Given the description of an element on the screen output the (x, y) to click on. 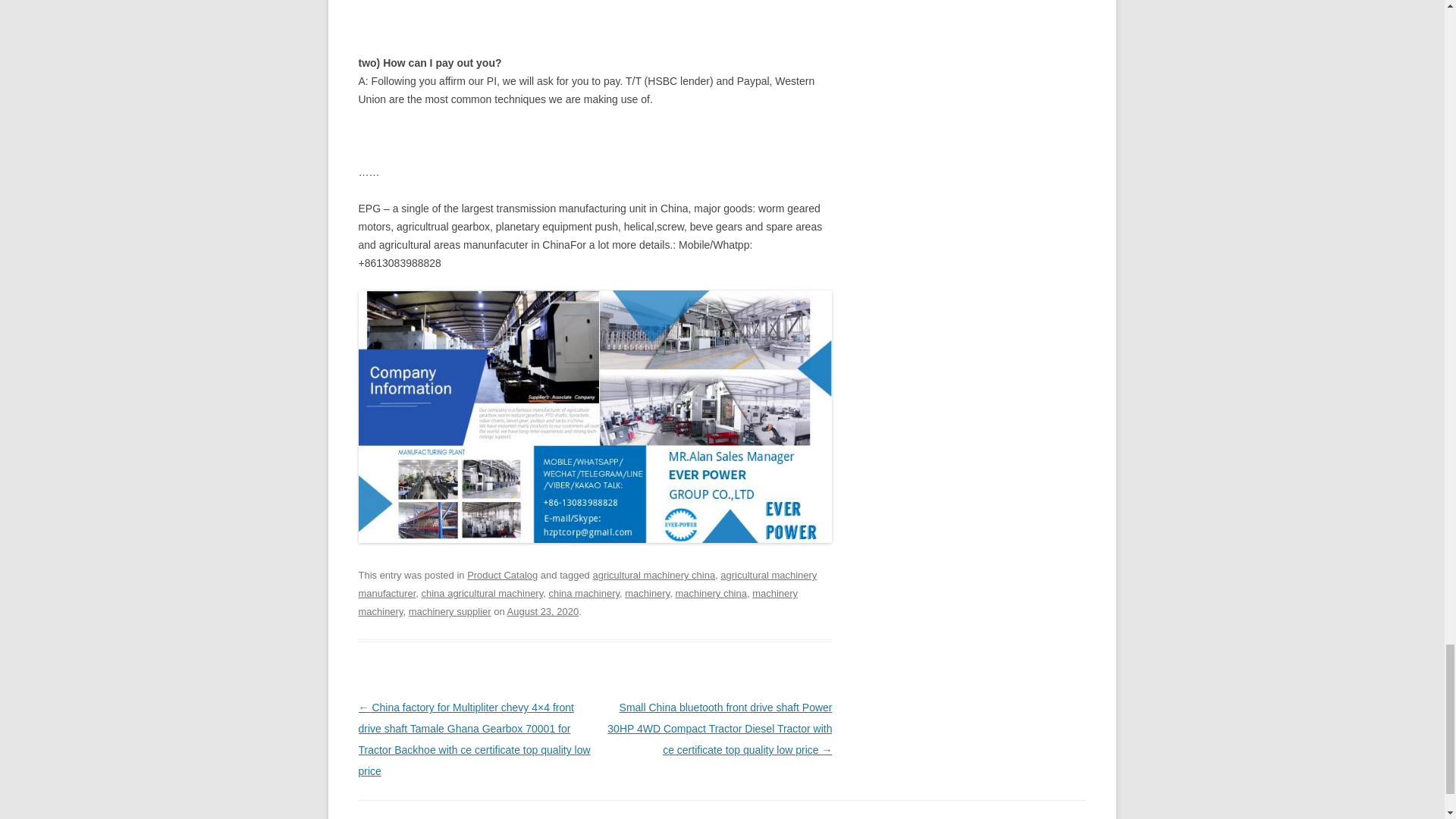
machinery machinery (577, 602)
machinery (646, 593)
10:07 pm (542, 611)
Product Catalog (502, 574)
August 23, 2020 (542, 611)
machinery supplier (450, 611)
china agricultural machinery (482, 593)
machinery china (710, 593)
china machinery (584, 593)
agricultural machinery manufacturer (587, 583)
agricultural machinery china (653, 574)
